Given the description of an element on the screen output the (x, y) to click on. 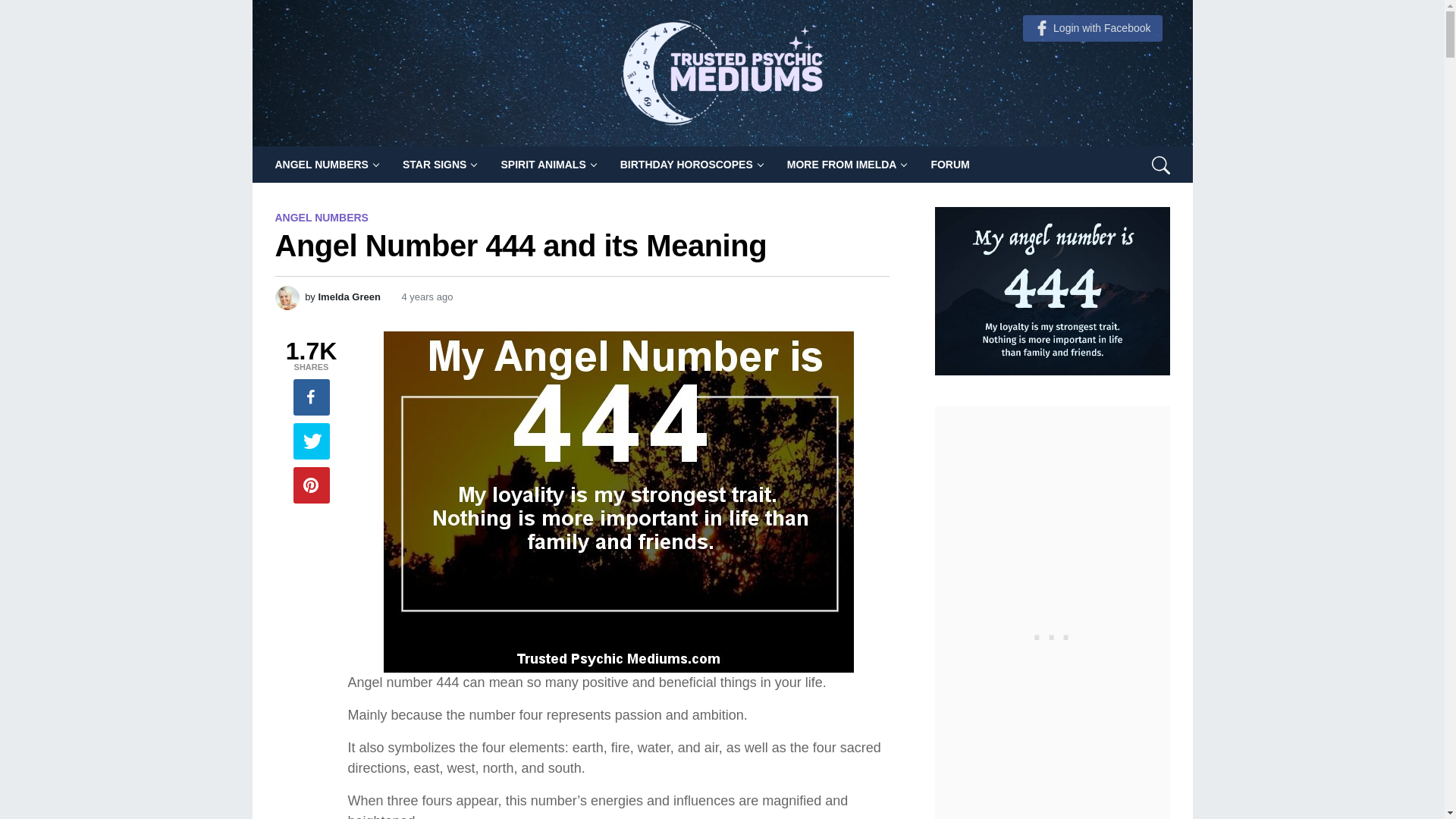
Angel Numbers (326, 164)
Login with Facebook (1092, 28)
SPIRIT ANIMALS (547, 164)
Star Signs (439, 164)
BIRTHDAY HOROSCOPES (691, 164)
MORE FROM IMELDA (846, 164)
ANGEL NUMBERS (326, 164)
STAR SIGNS (439, 164)
